Given the description of an element on the screen output the (x, y) to click on. 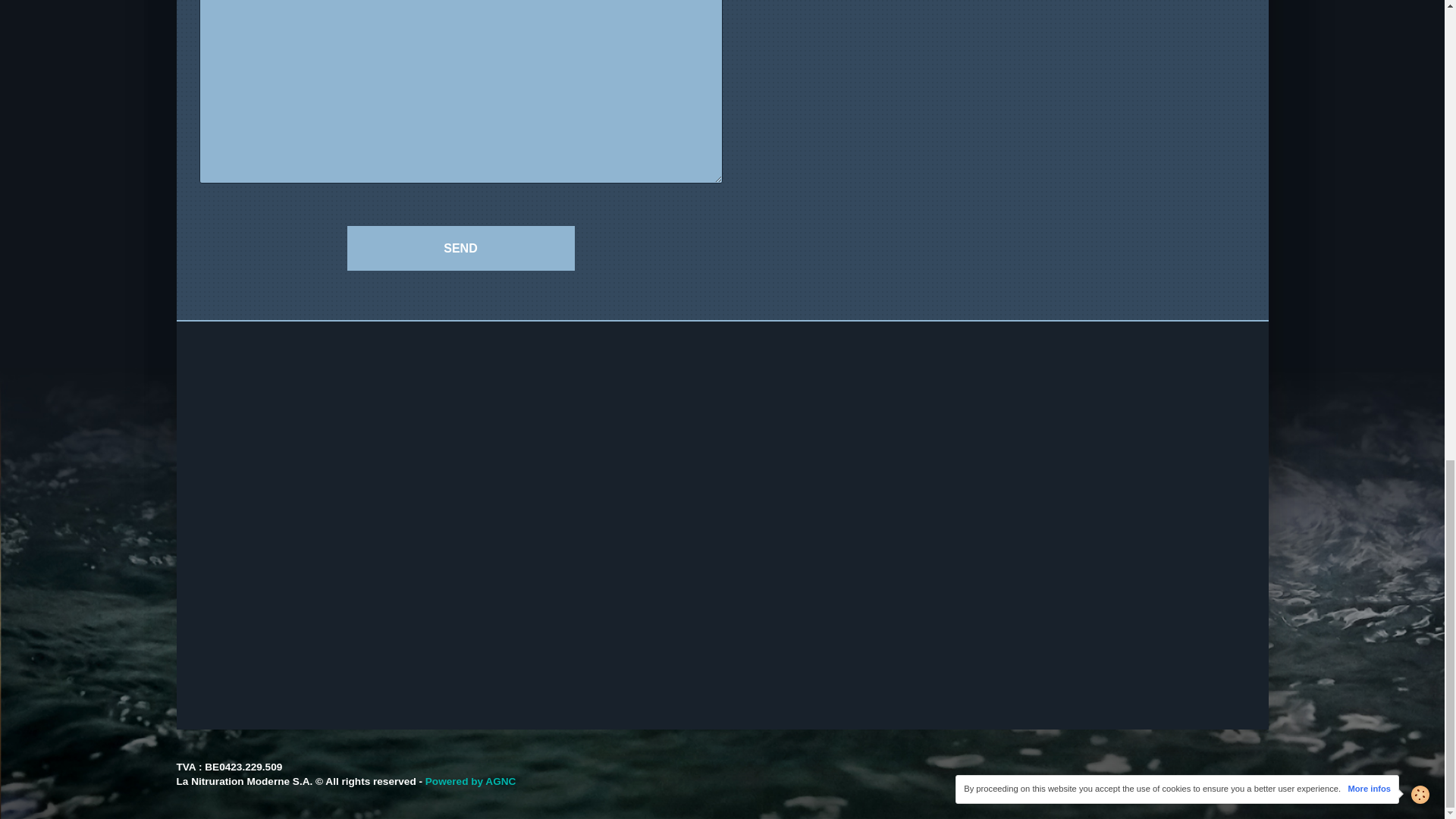
Powered by AGNC (470, 781)
Send (461, 248)
Your message (460, 91)
Send (461, 248)
